Given the description of an element on the screen output the (x, y) to click on. 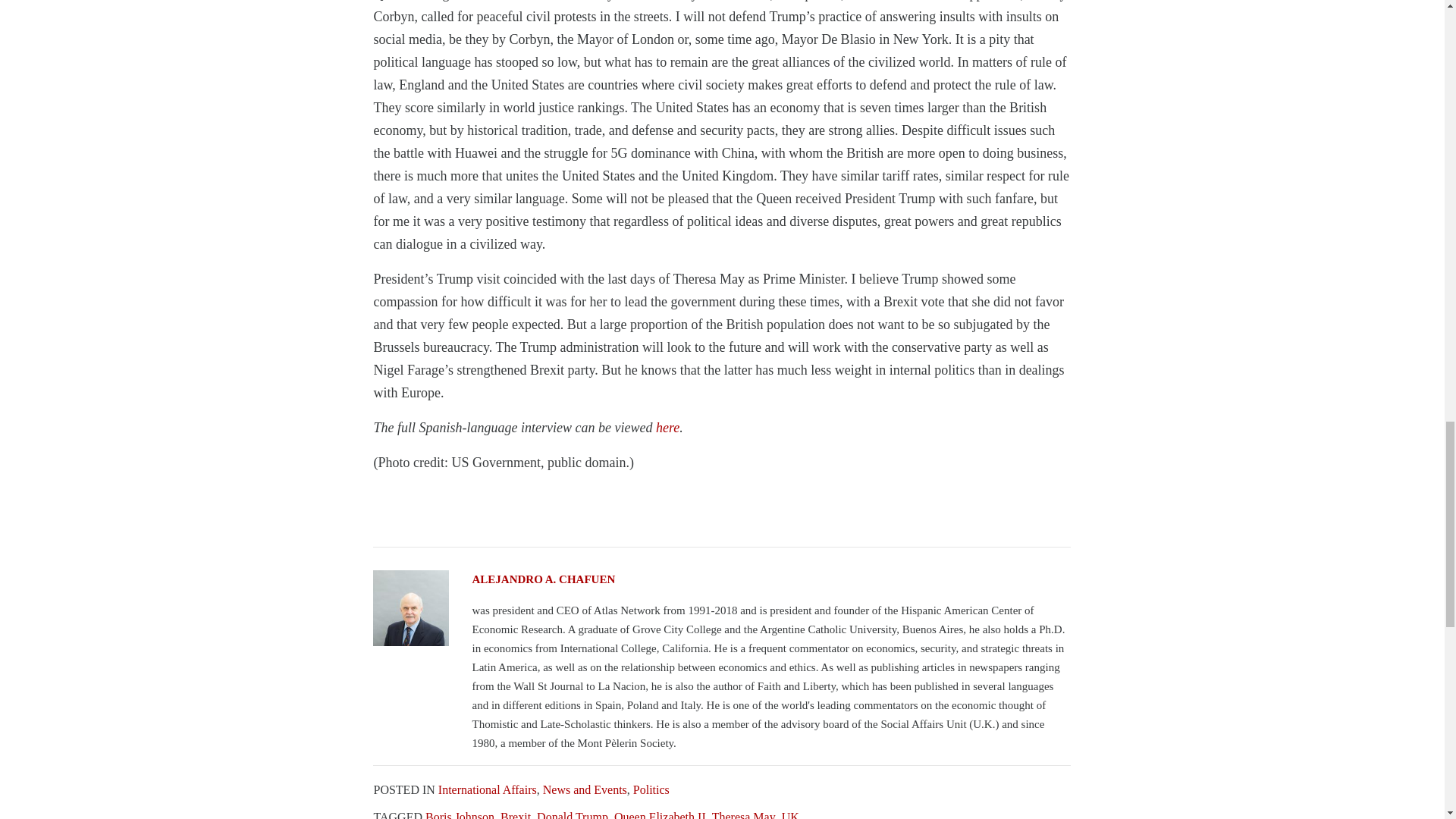
Boris Johnson (460, 814)
International Affairs (487, 788)
here (667, 427)
ALEJANDRO A. CHAFUEN (721, 579)
Theresa May (743, 814)
Politics (651, 788)
Brexit (515, 814)
News and Events (585, 788)
UK (790, 814)
Donald Trump (572, 814)
